Given the description of an element on the screen output the (x, y) to click on. 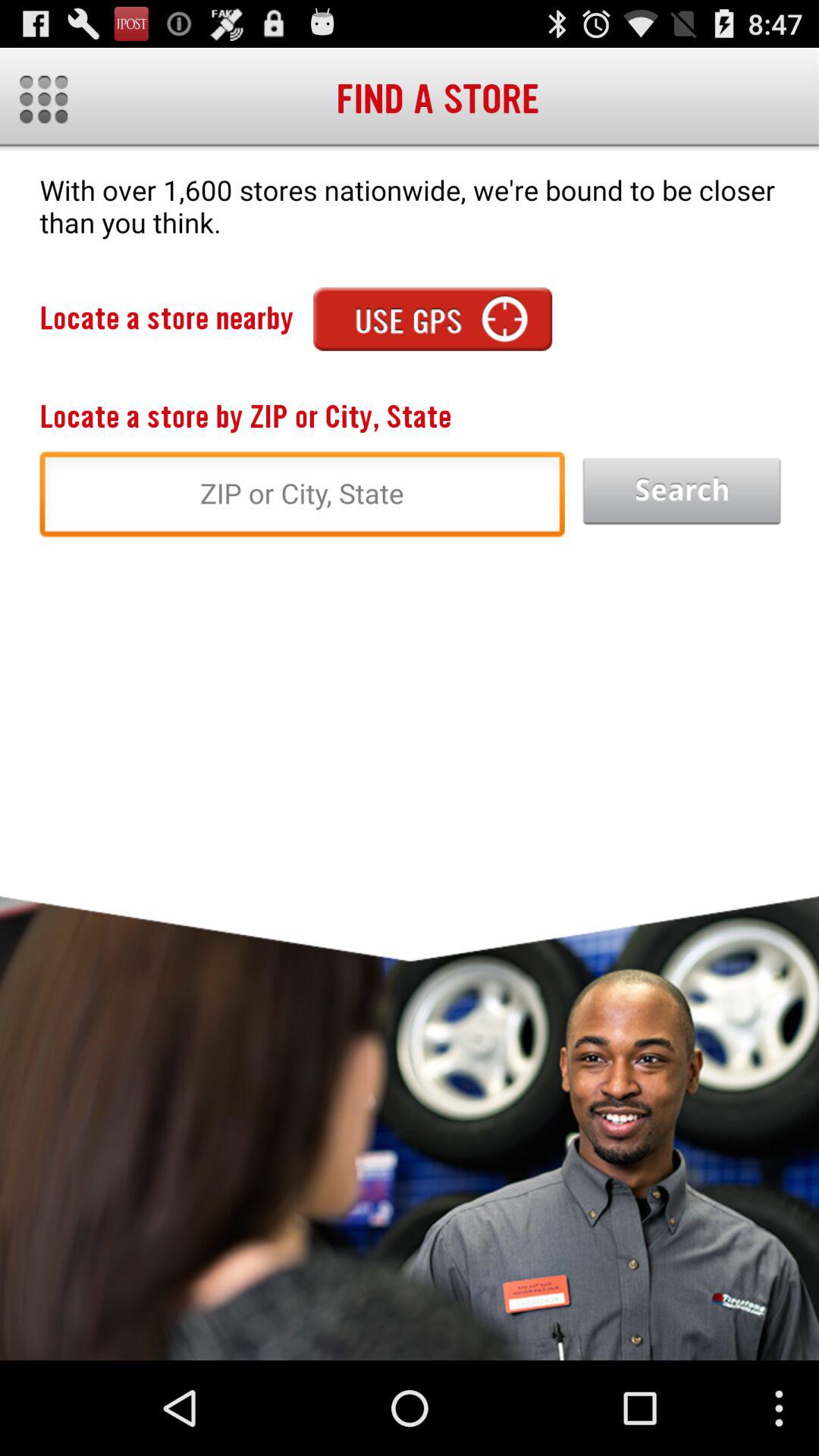
use gps to find store (432, 318)
